Given the description of an element on the screen output the (x, y) to click on. 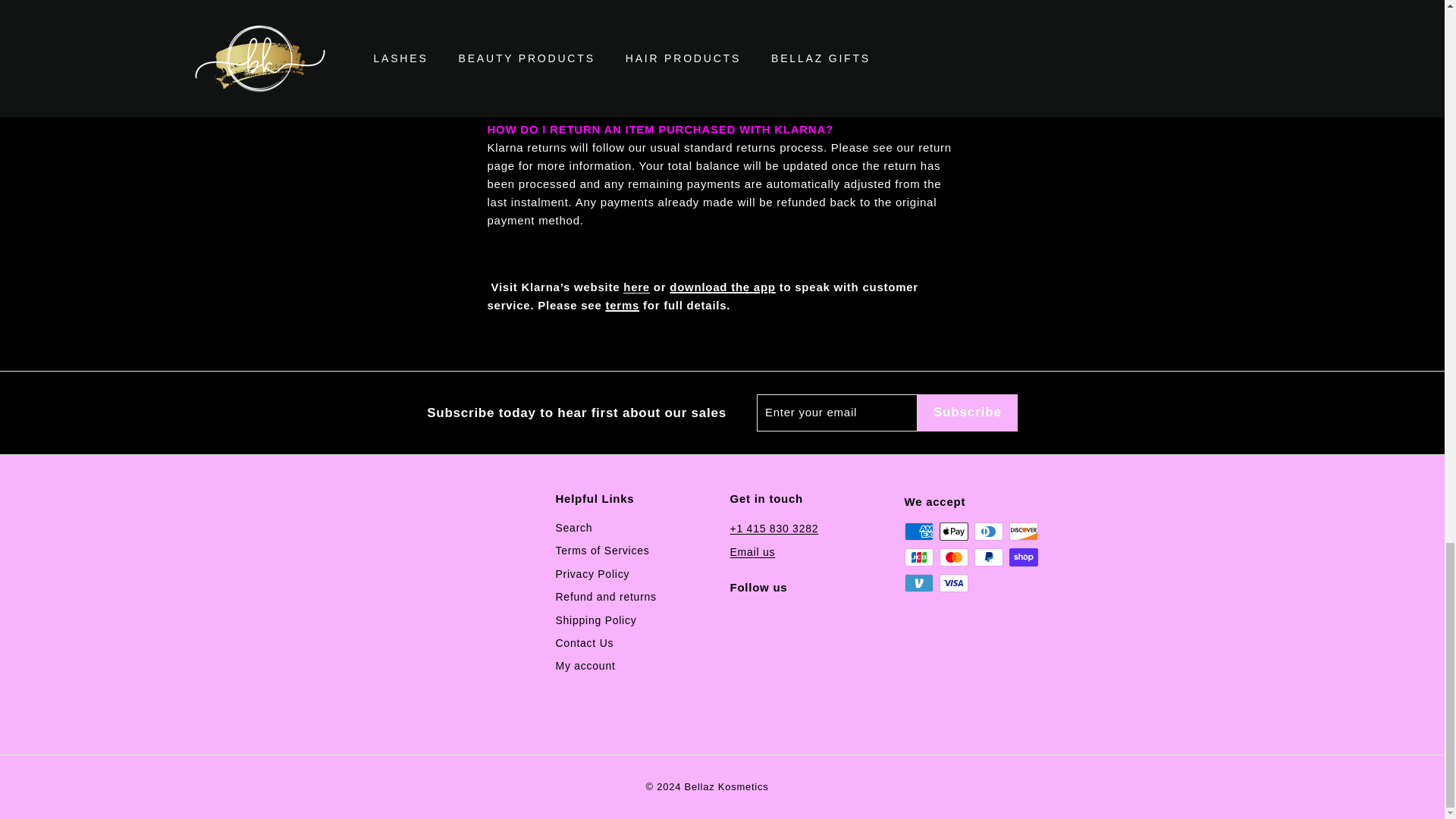
Contact Us (583, 642)
Discover (1022, 531)
Subscribe (967, 411)
Terms of Services (601, 549)
Privacy Policy (591, 573)
Visa (953, 583)
Refund and returns (605, 596)
PayPal (988, 556)
Shop Pay (1022, 556)
Mastercard (953, 556)
download the app (722, 286)
terms (883, 73)
My account (584, 665)
Apple Pay (953, 531)
terms (622, 305)
